Given the description of an element on the screen output the (x, y) to click on. 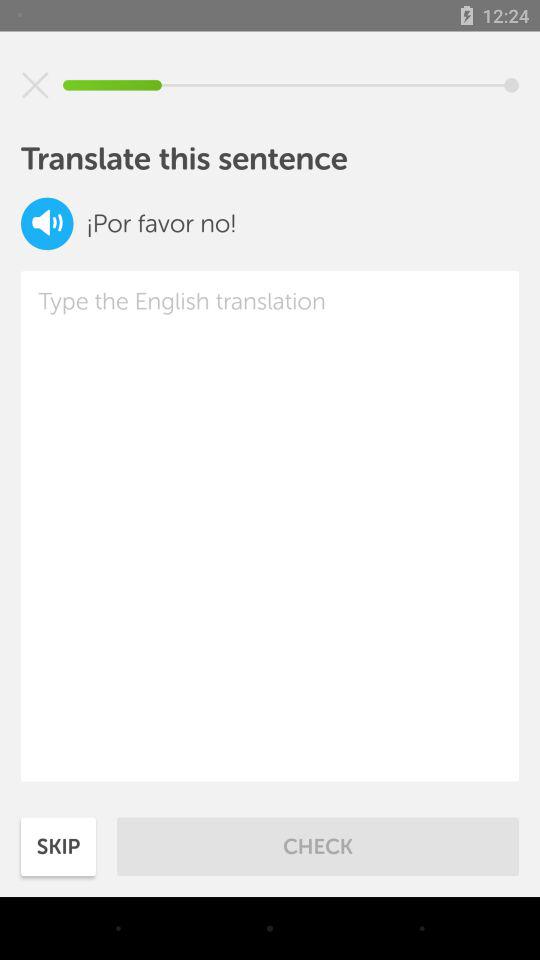
select the item at the center (270, 526)
